Given the description of an element on the screen output the (x, y) to click on. 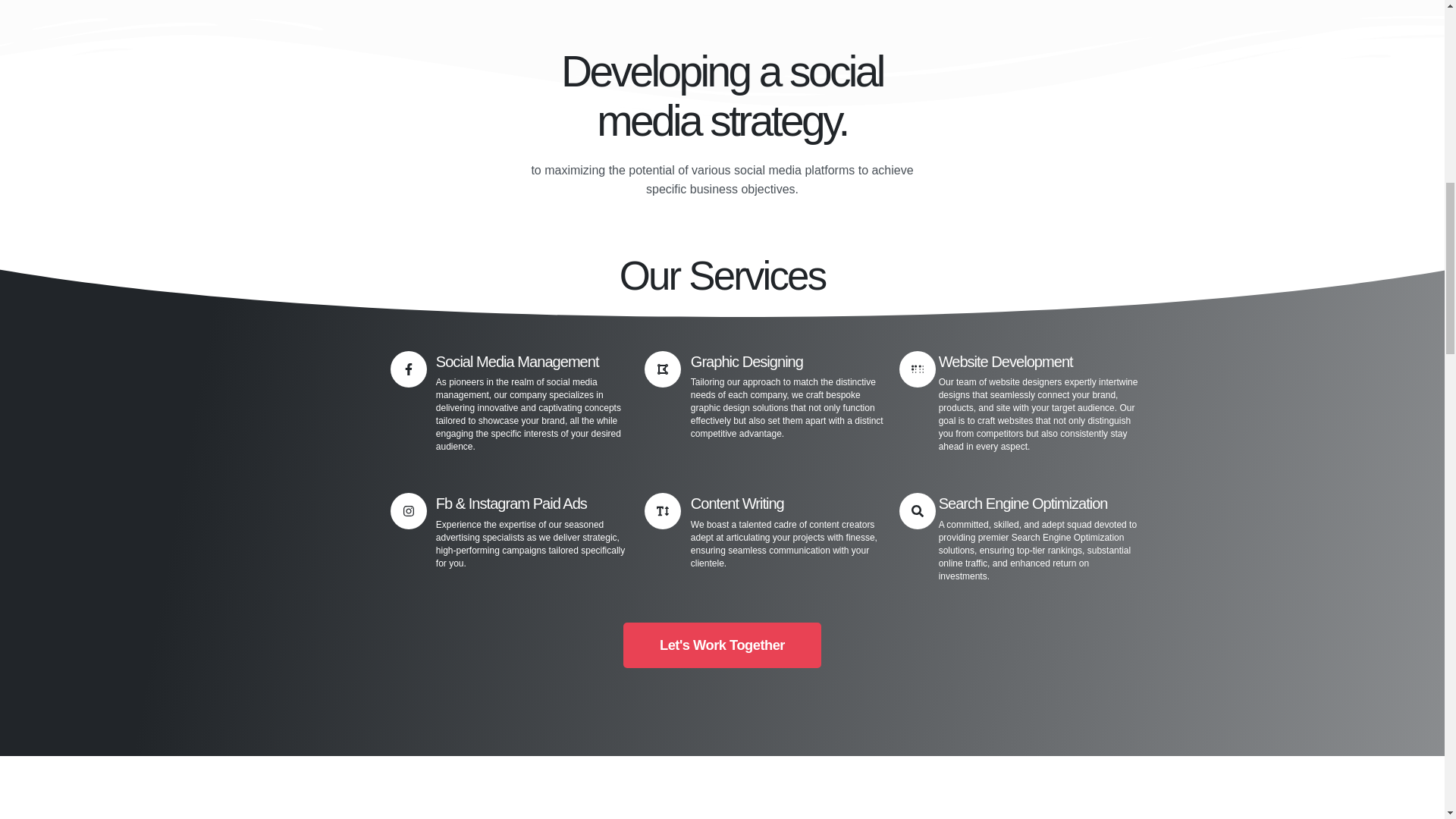
Let's Work Together (722, 644)
